Given the description of an element on the screen output the (x, y) to click on. 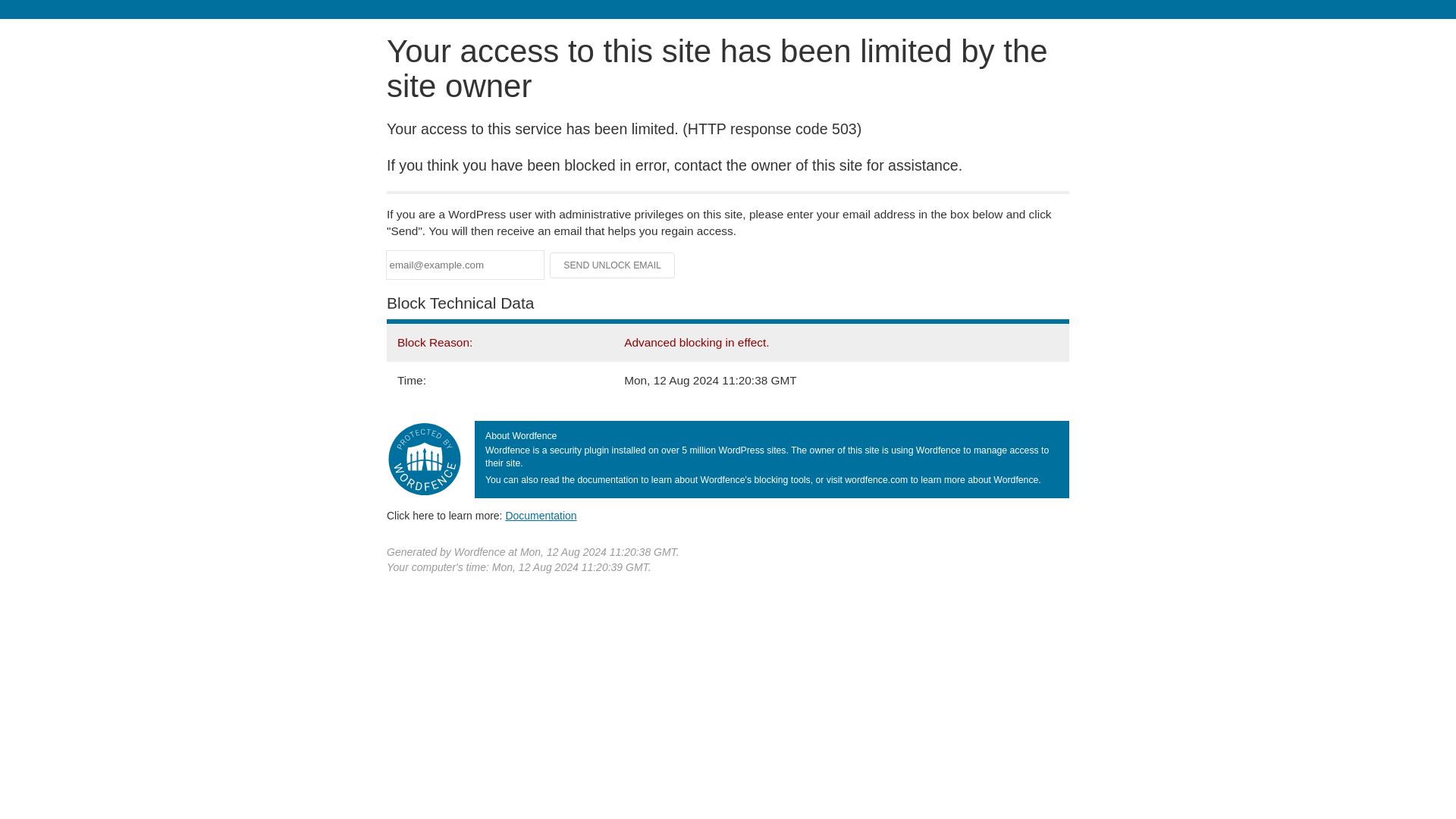
Documentation (540, 515)
Send Unlock Email (612, 265)
Send Unlock Email (612, 265)
